Given the description of an element on the screen output the (x, y) to click on. 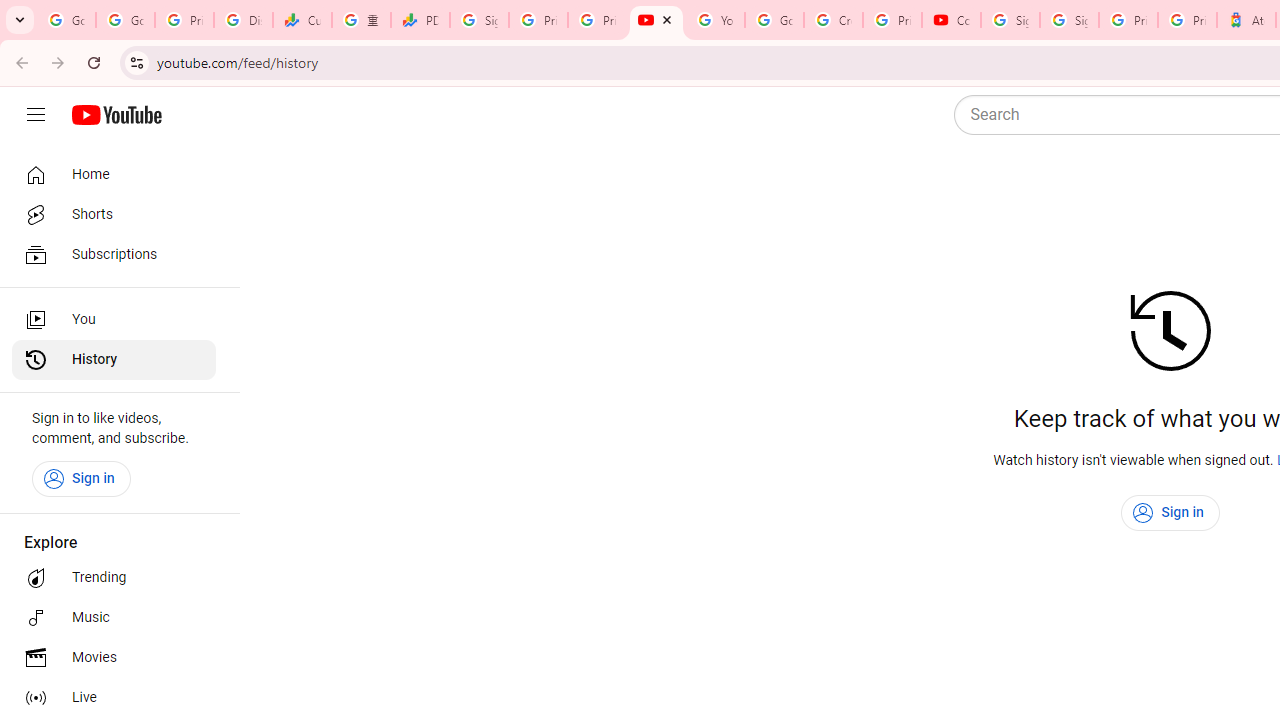
Google Account Help (774, 20)
Live (113, 697)
Music (113, 617)
